Given the description of an element on the screen output the (x, y) to click on. 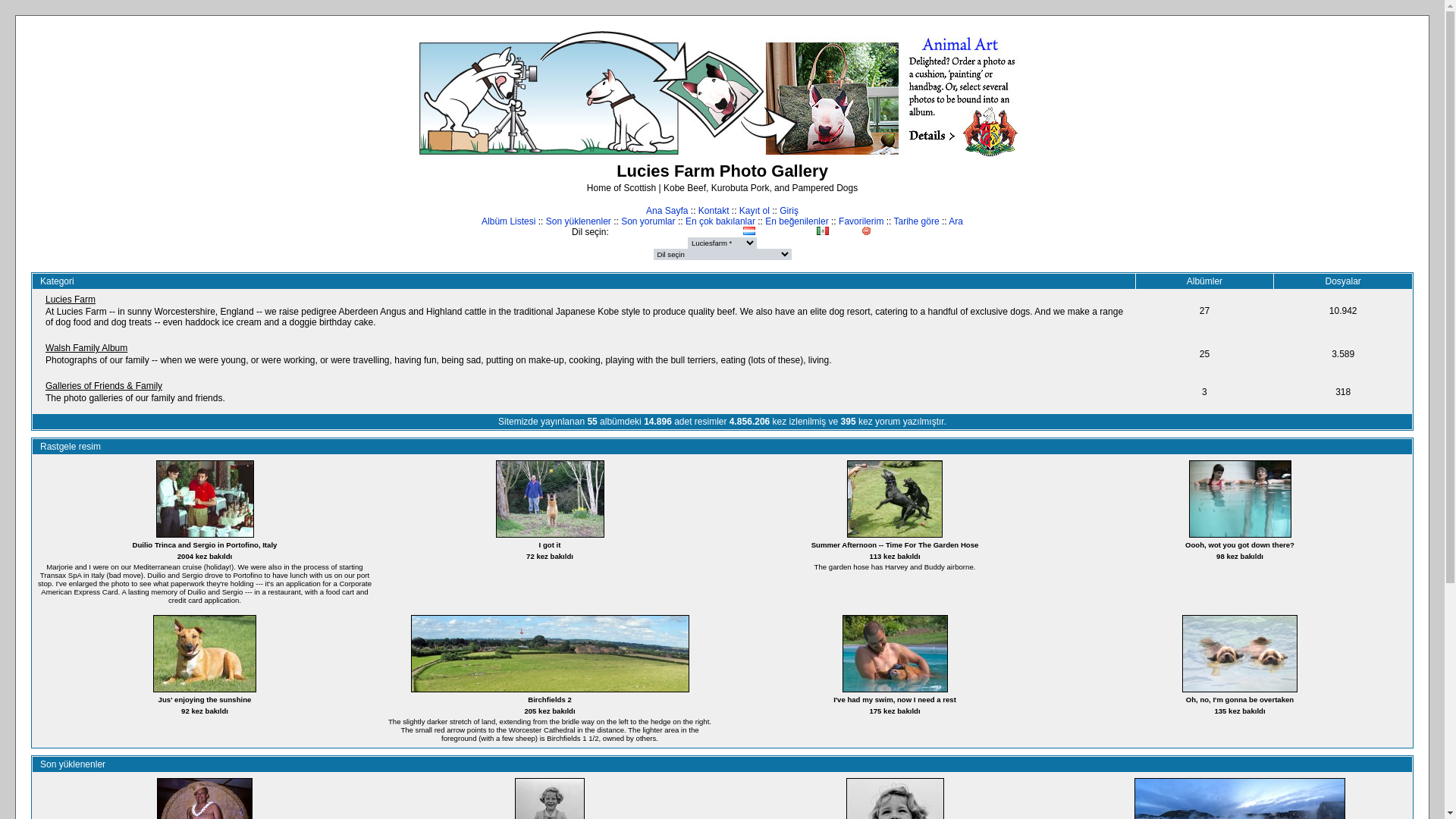
Ana Sayfa Element type: text (666, 210)
Galleries of Friends & Family Element type: text (103, 385)
Dutch / Nederlands Element type: hover (661, 230)
Kontakt Element type: text (713, 210)
Ara Element type: text (955, 221)
Favorilerim Element type: text (860, 221)
Lucies Farm Element type: text (70, 299)
German / Deutsch (Du) Element type: hover (719, 230)
Polish / Polski Element type: hover (764, 230)
Finnish / Suomi Element type: hover (690, 230)
English / English (US) Element type: hover (675, 230)
Son yorumlar Element type: text (647, 221)
Walsh Family Album Element type: text (86, 347)
